Given the description of an element on the screen output the (x, y) to click on. 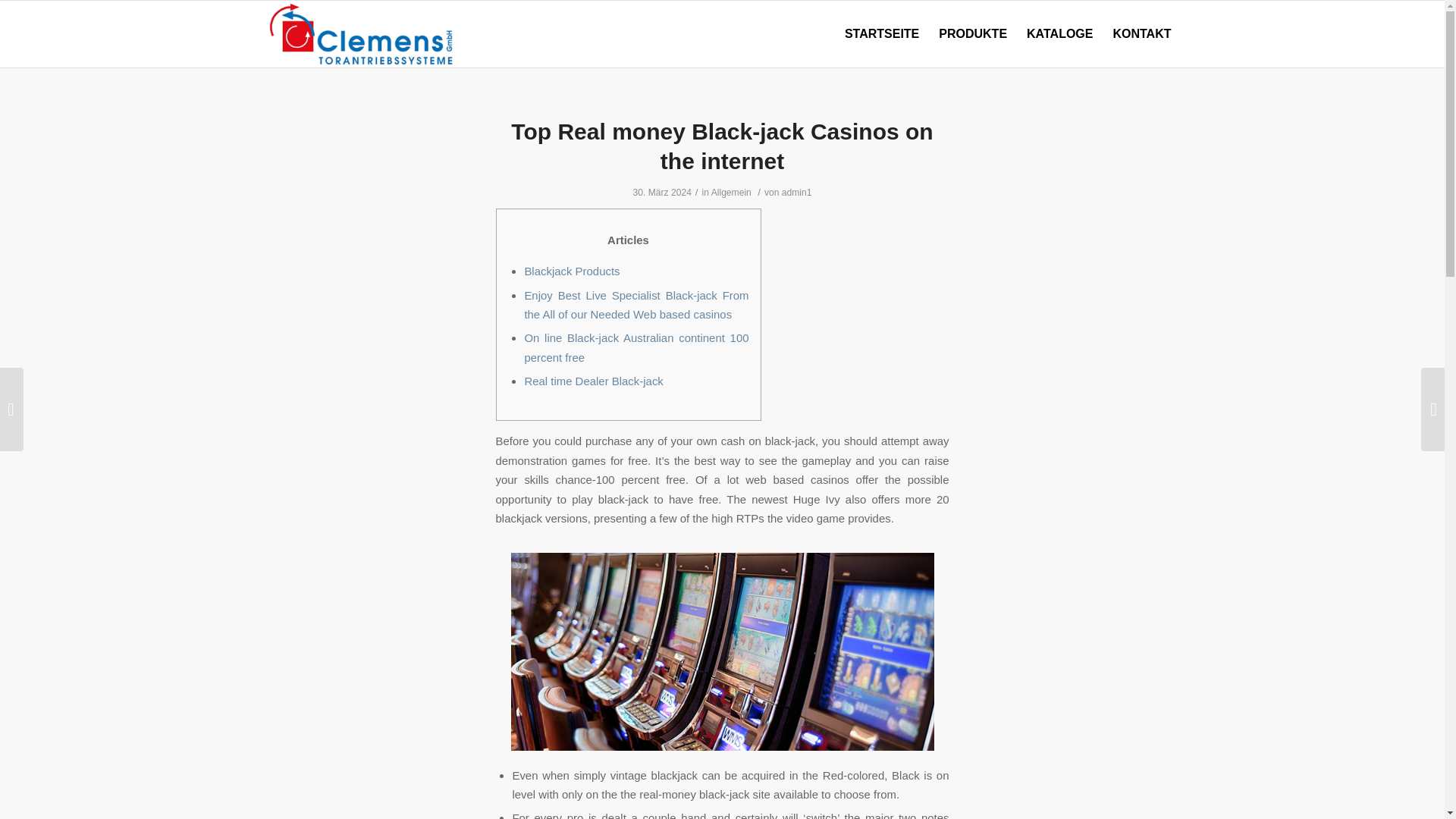
STARTSEITE (881, 33)
Allgemein (731, 192)
Blackjack Products (572, 270)
Top Real money Black-jack Casinos on the internet (722, 145)
admin1 (796, 192)
On line Black-jack Australian continent 100 percent free (636, 347)
KATALOGE (1059, 33)
KONTAKT (1141, 33)
Real time Dealer Black-jack (593, 380)
PRODUKTE (972, 33)
